Given the description of an element on the screen output the (x, y) to click on. 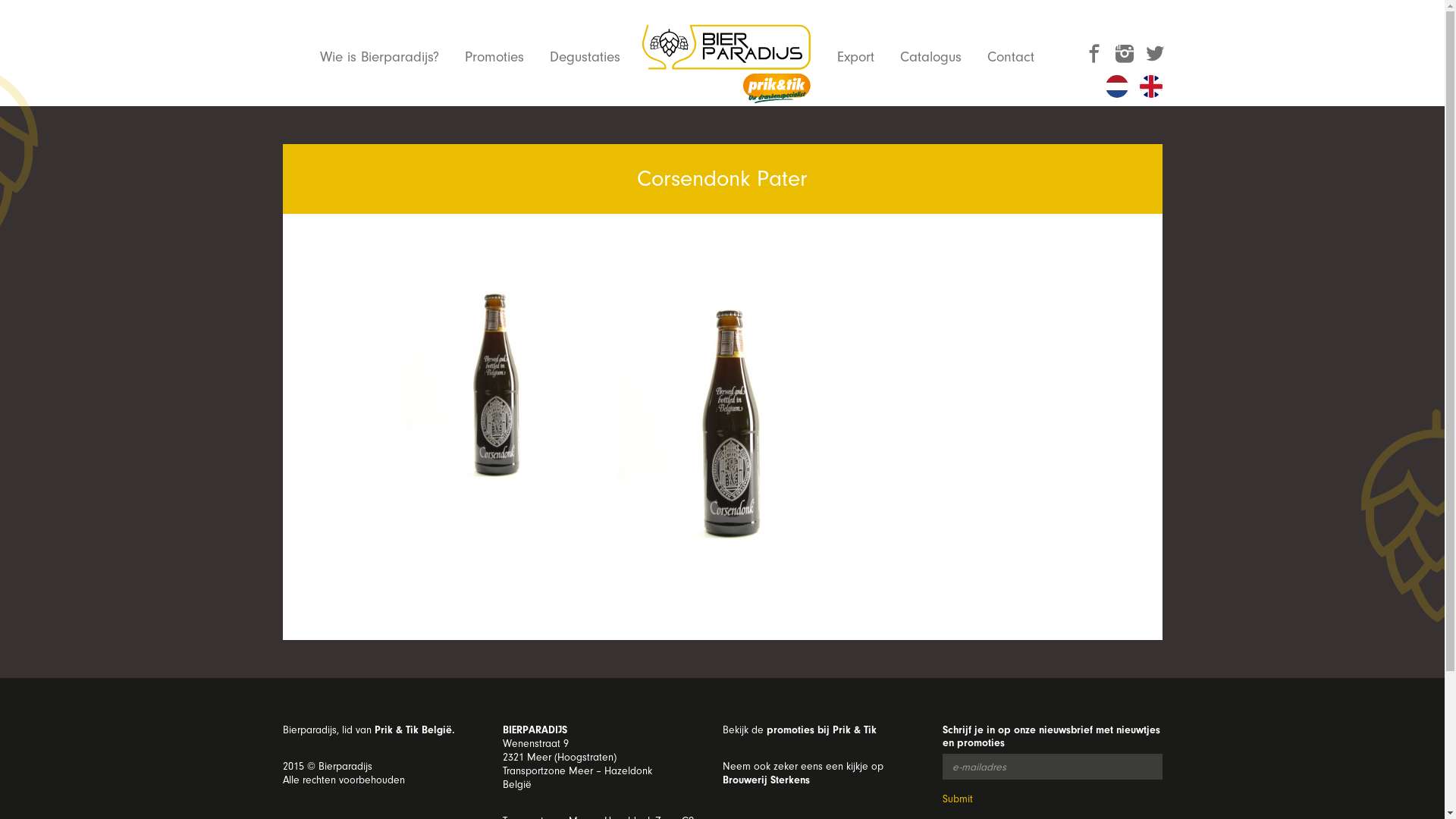
Contact Element type: text (1010, 56)
Degustaties Element type: text (584, 56)
Wie is Bierparadijs? Element type: text (379, 56)
Catalogus Element type: text (930, 56)
Submit Element type: text (956, 798)
Promoties Element type: text (493, 56)
Export Element type: text (855, 56)
promoties bij Prik & Tik Element type: text (820, 729)
Brouwerij Sterkens Element type: text (765, 779)
